Given the description of an element on the screen output the (x, y) to click on. 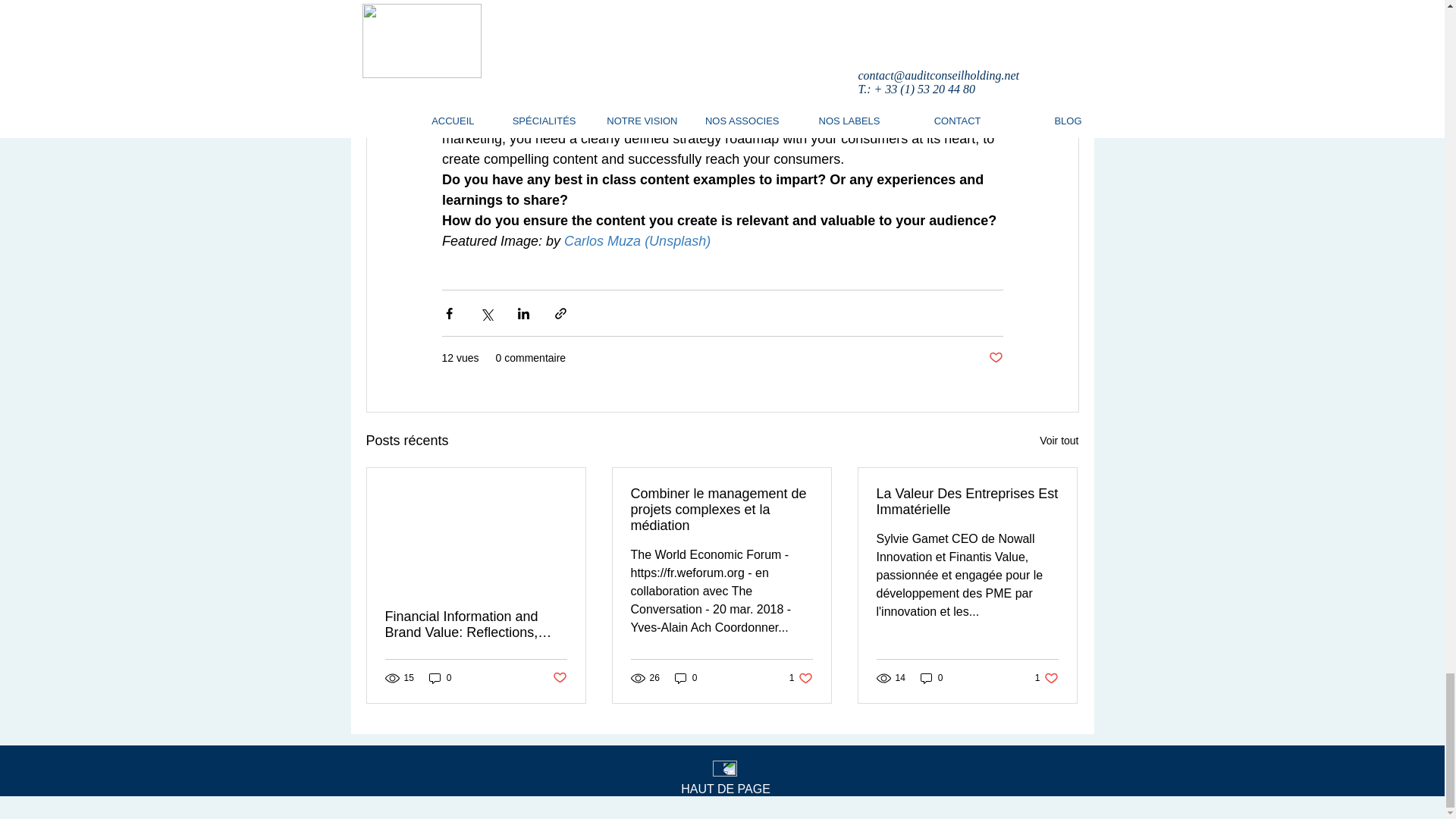
0 (440, 677)
Voir tout (1058, 440)
Vous n'aimez plus ce post (558, 678)
0 (685, 677)
Vous n'aimez plus ce post (995, 358)
